Given the description of an element on the screen output the (x, y) to click on. 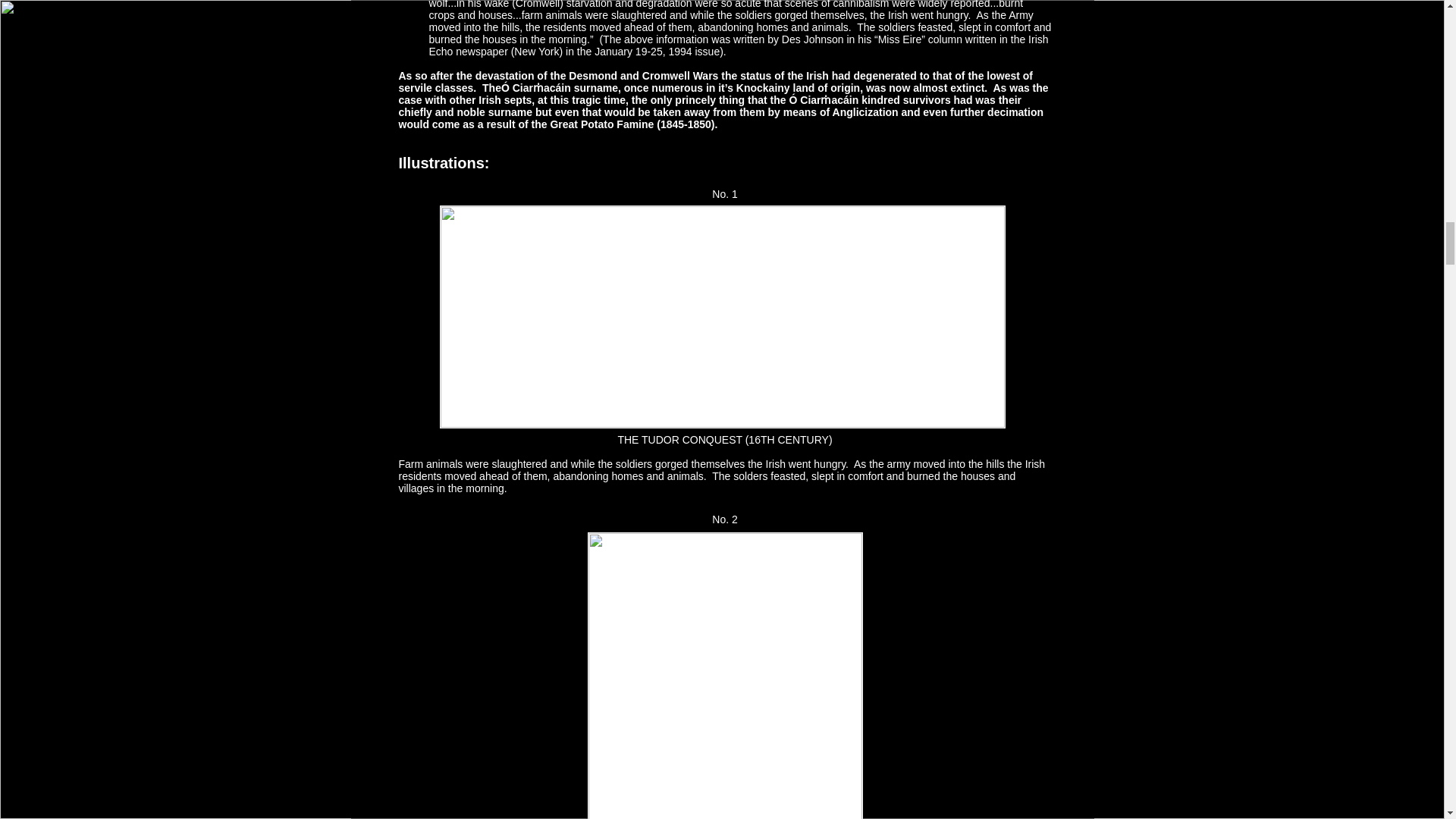
IMG-Chapter9D.jpg (723, 675)
